Given the description of an element on the screen output the (x, y) to click on. 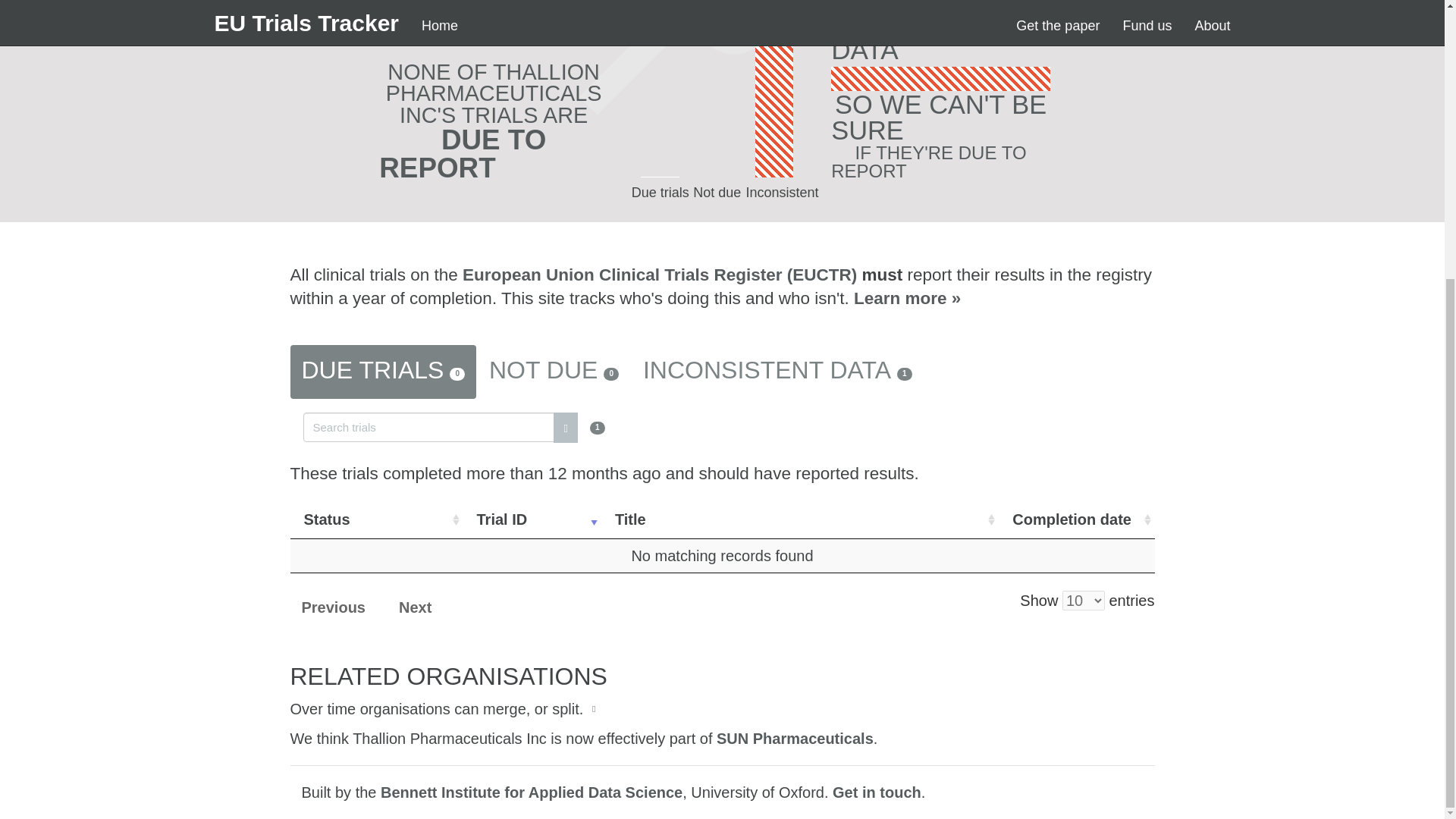
INCONSISTENT DATA1 (777, 371)
1 (453, 425)
Get in touch (876, 791)
Next (414, 607)
DUE TRIALS0 (382, 371)
Previous (332, 607)
Bennett Institute for Applied Data Science (531, 791)
NOT DUE0 (553, 371)
SUN Pharmaceuticals (794, 738)
